Given the description of an element on the screen output the (x, y) to click on. 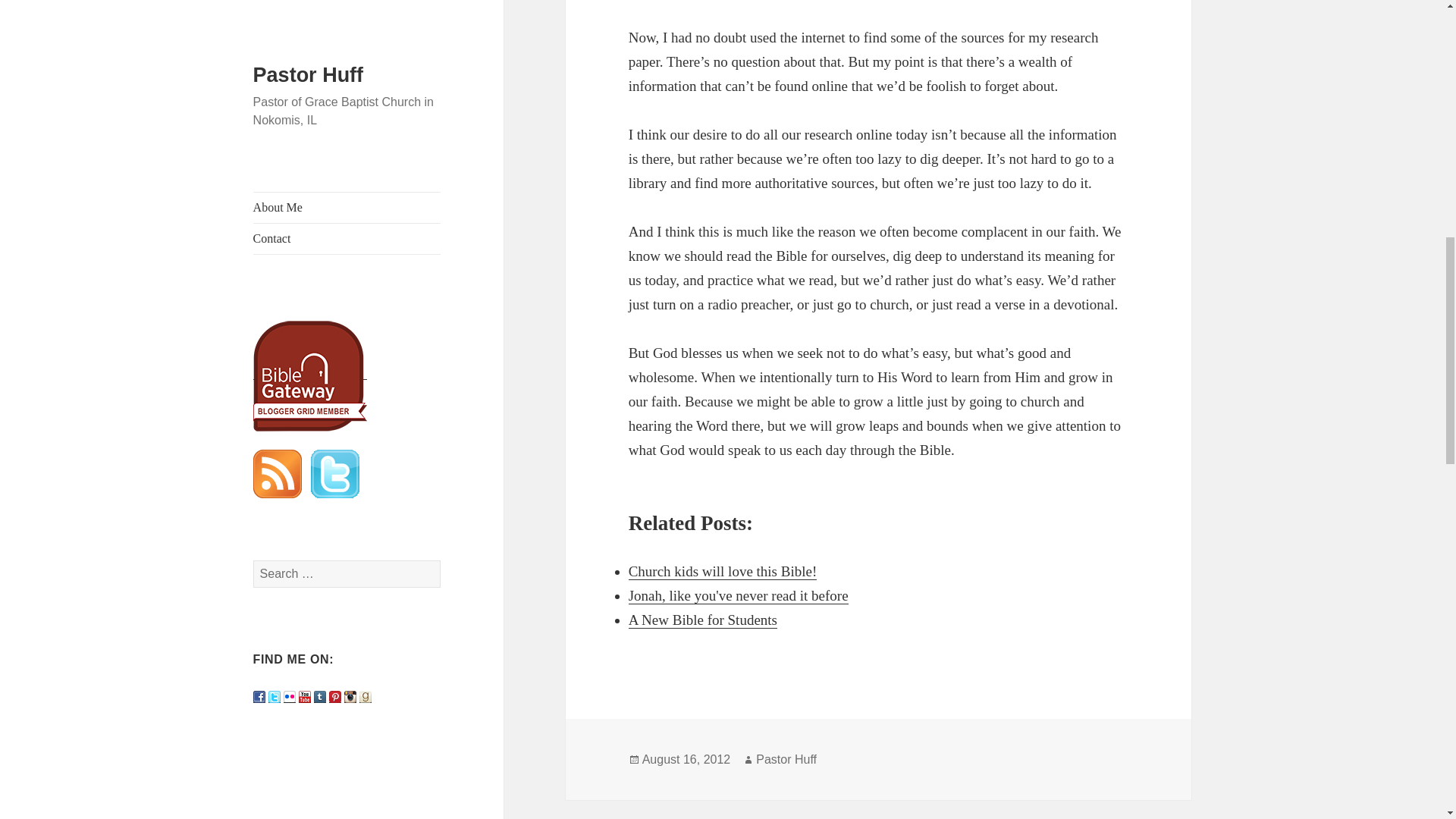
Jonah, like you've never read it before (738, 596)
August 16, 2012 (686, 759)
Church kids will love this Bible! (722, 571)
Pastor Huff (785, 759)
A New Bible for Students (702, 619)
